Given the description of an element on the screen output the (x, y) to click on. 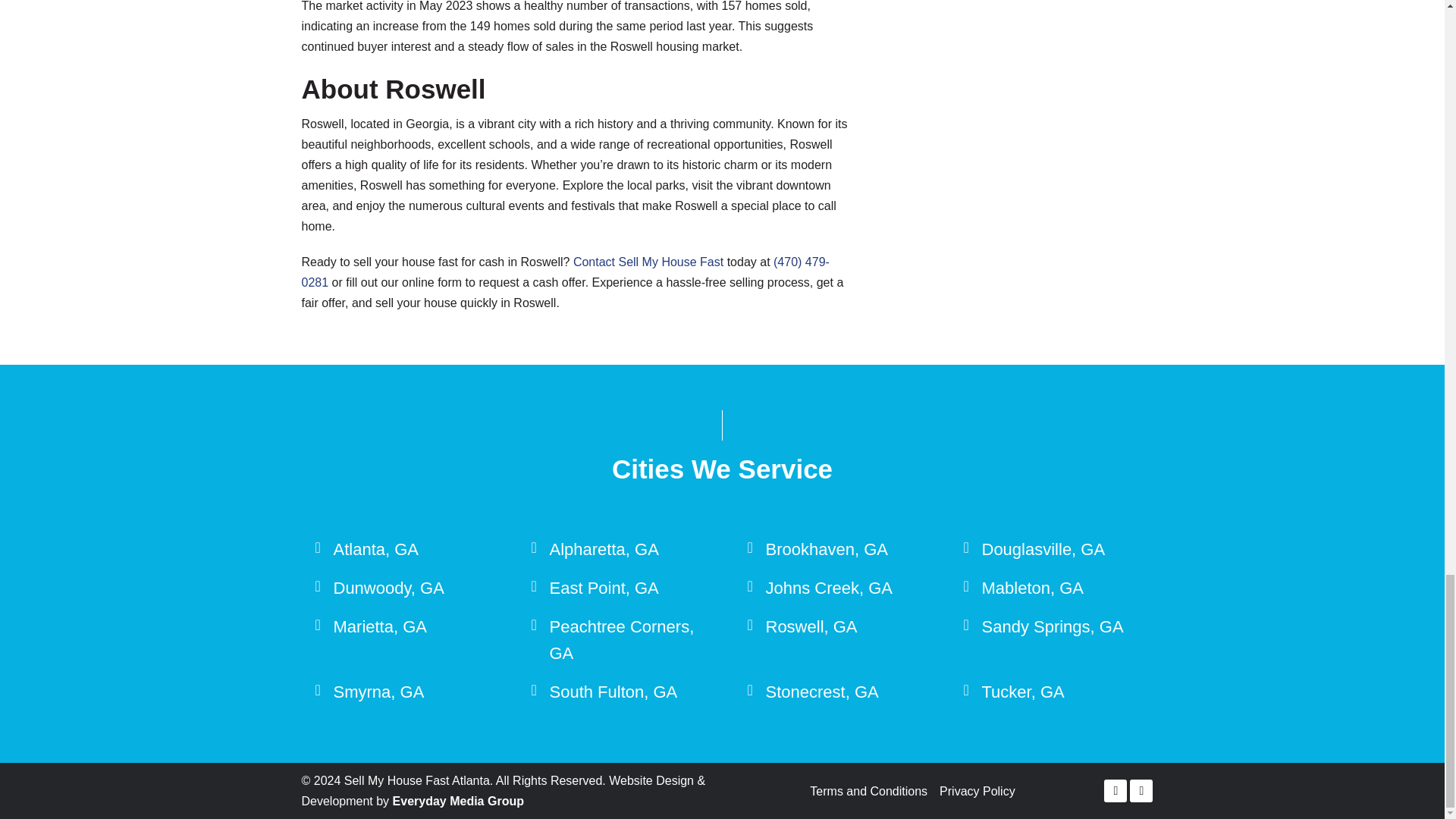
Johns Creek, GA (829, 587)
Roswell, GA (811, 626)
Douglasville, GA (1043, 548)
Contact Sell My House Fast (648, 261)
Sandy Springs, GA (1051, 626)
Alpharetta, GA (603, 548)
Dunwoody, GA (388, 587)
Peachtree Corners, GA (621, 639)
Smyrna, GA (379, 691)
Marietta, GA (379, 626)
